Given the description of an element on the screen output the (x, y) to click on. 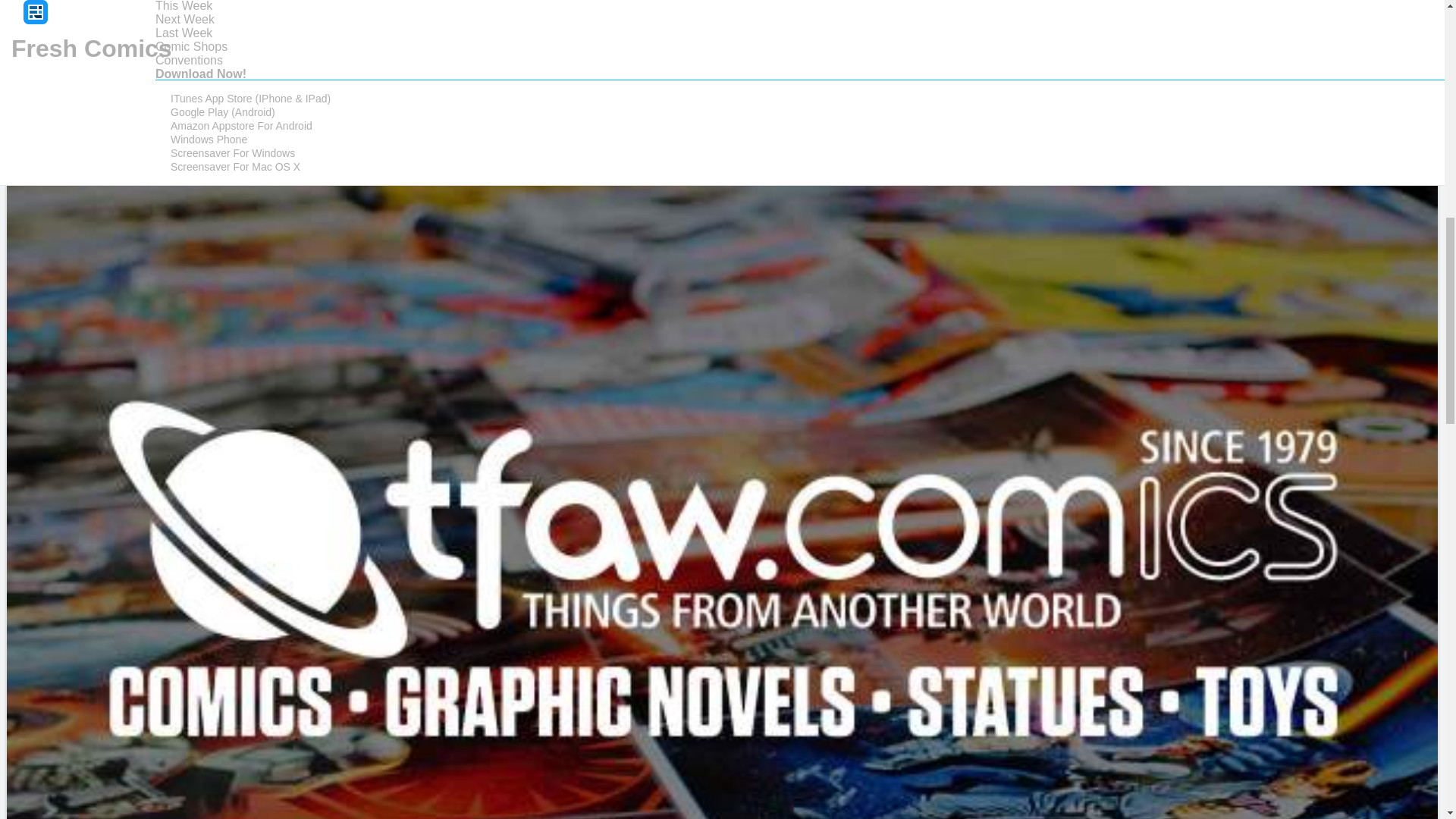
Nicola Scott (57, 24)
